Given the description of an element on the screen output the (x, y) to click on. 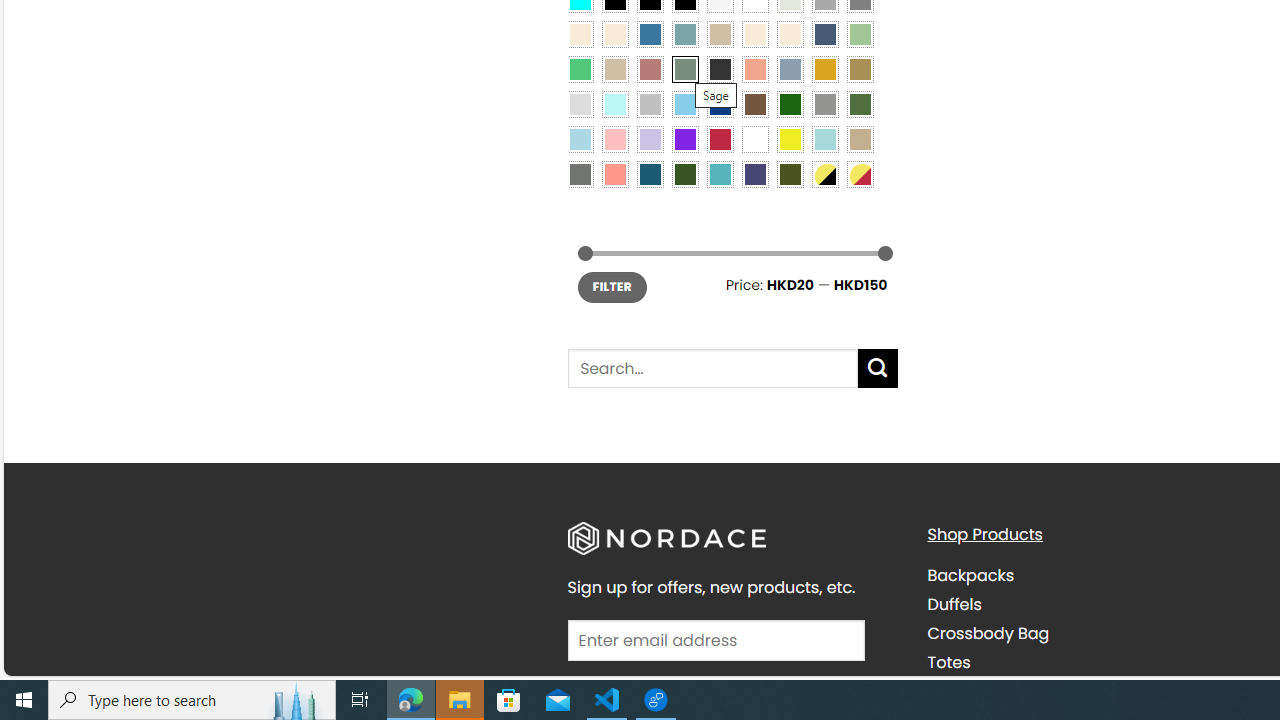
Red (719, 138)
Pink (614, 138)
Charcoal (719, 69)
Purple (684, 138)
Purple Navy (755, 174)
Gold (824, 69)
Crossbody Bag (987, 633)
White (755, 138)
Aqua (824, 138)
Peach Pink (614, 174)
Totes (948, 661)
Search for: (712, 368)
Brown (755, 103)
